Given the description of an element on the screen output the (x, y) to click on. 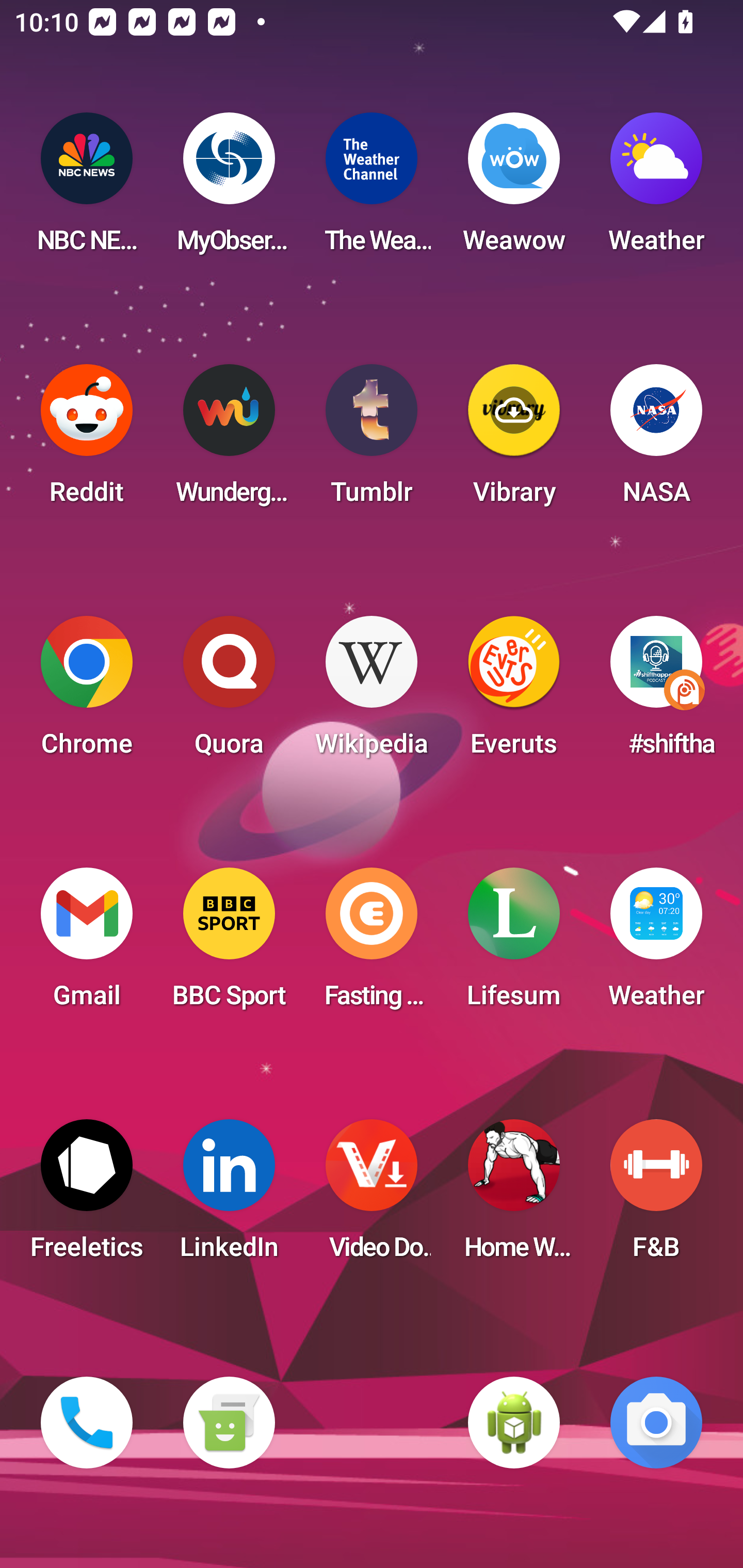
NBC NEWS (86, 188)
MyObservatory (228, 188)
The Weather Channel (371, 188)
Weawow (513, 188)
Weather (656, 188)
Reddit (86, 440)
Wunderground (228, 440)
Tumblr (371, 440)
Vibrary (513, 440)
NASA (656, 440)
Chrome (86, 692)
Quora (228, 692)
Wikipedia (371, 692)
Everuts (513, 692)
#shifthappens in the Digital Workplace Podcast (656, 692)
Gmail (86, 943)
BBC Sport (228, 943)
Fasting Coach (371, 943)
Lifesum (513, 943)
Weather (656, 943)
Freeletics (86, 1195)
LinkedIn (228, 1195)
Video Downloader & Ace Player (371, 1195)
Home Workout (513, 1195)
F&B (656, 1195)
Phone (86, 1422)
Messaging (228, 1422)
WebView Browser Tester (513, 1422)
Camera (656, 1422)
